Given the description of an element on the screen output the (x, y) to click on. 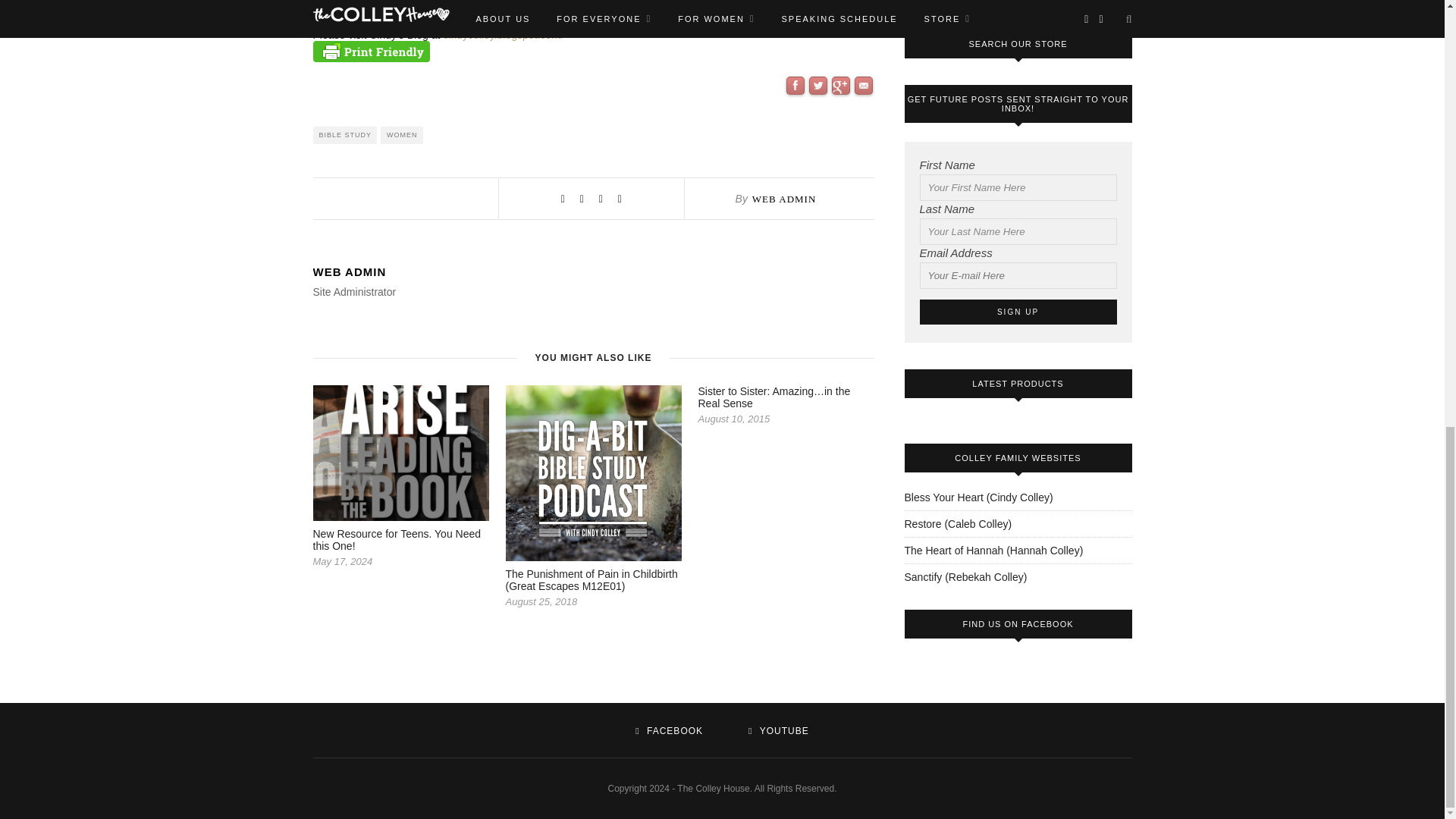
Sign up (1017, 311)
Your First Name Here (1017, 187)
Posts by Web Admin (783, 198)
Your Last Name Here (1017, 231)
Email to a friend (864, 137)
Posts by Web Admin (593, 271)
